Given the description of an element on the screen output the (x, y) to click on. 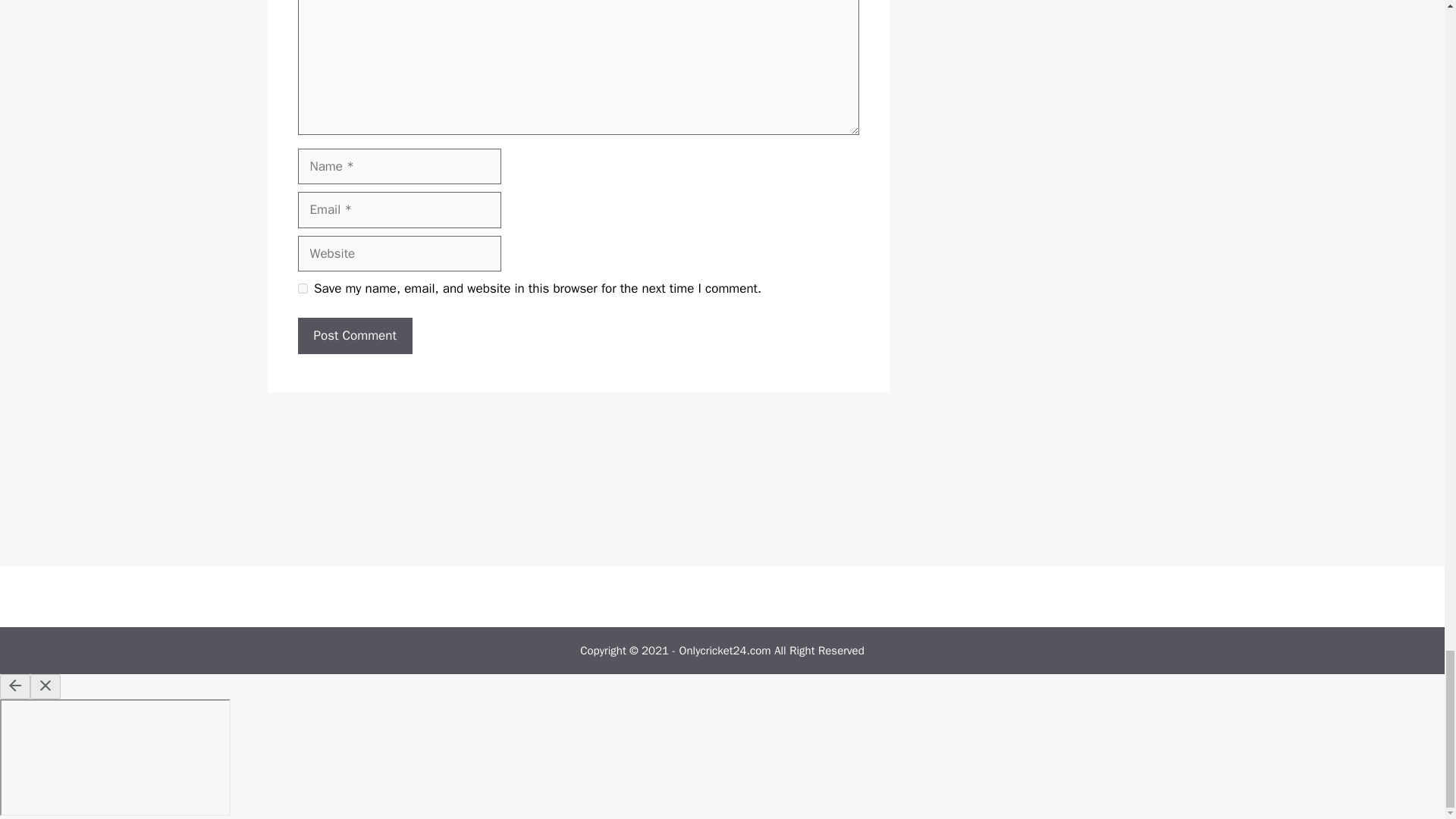
Post Comment (354, 335)
yes (302, 288)
Post Comment (354, 335)
